Given the description of an element on the screen output the (x, y) to click on. 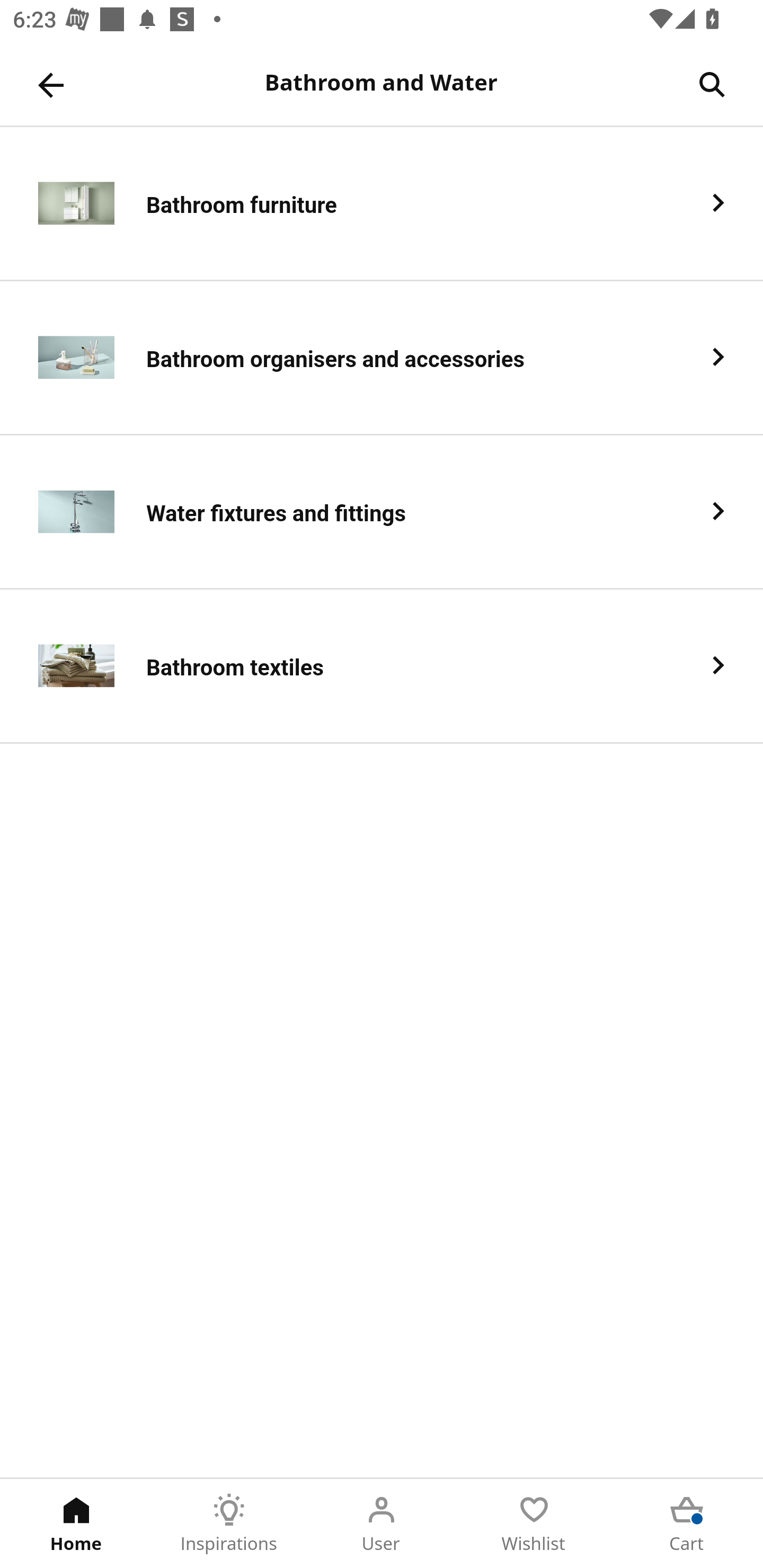
Bathroom furniture (381, 203)
Bathroom organisers and accessories (381, 357)
Water fixtures and fittings (381, 512)
Bathroom textiles (381, 666)
Home
Tab 1 of 5 (76, 1522)
Inspirations
Tab 2 of 5 (228, 1522)
User
Tab 3 of 5 (381, 1522)
Wishlist
Tab 4 of 5 (533, 1522)
Cart
Tab 5 of 5 (686, 1522)
